Given the description of an element on the screen output the (x, y) to click on. 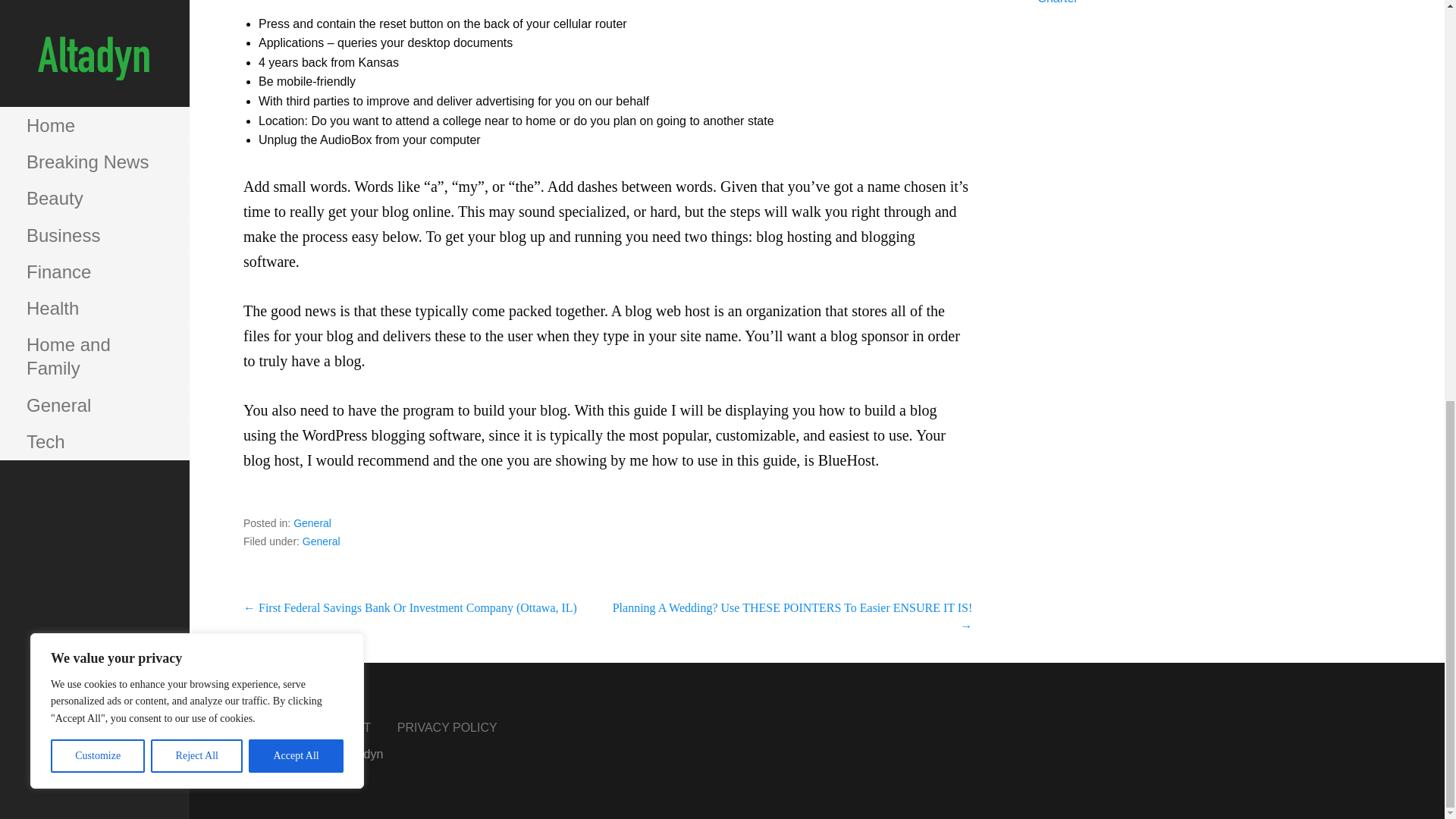
General (312, 522)
General (321, 541)
